Given the description of an element on the screen output the (x, y) to click on. 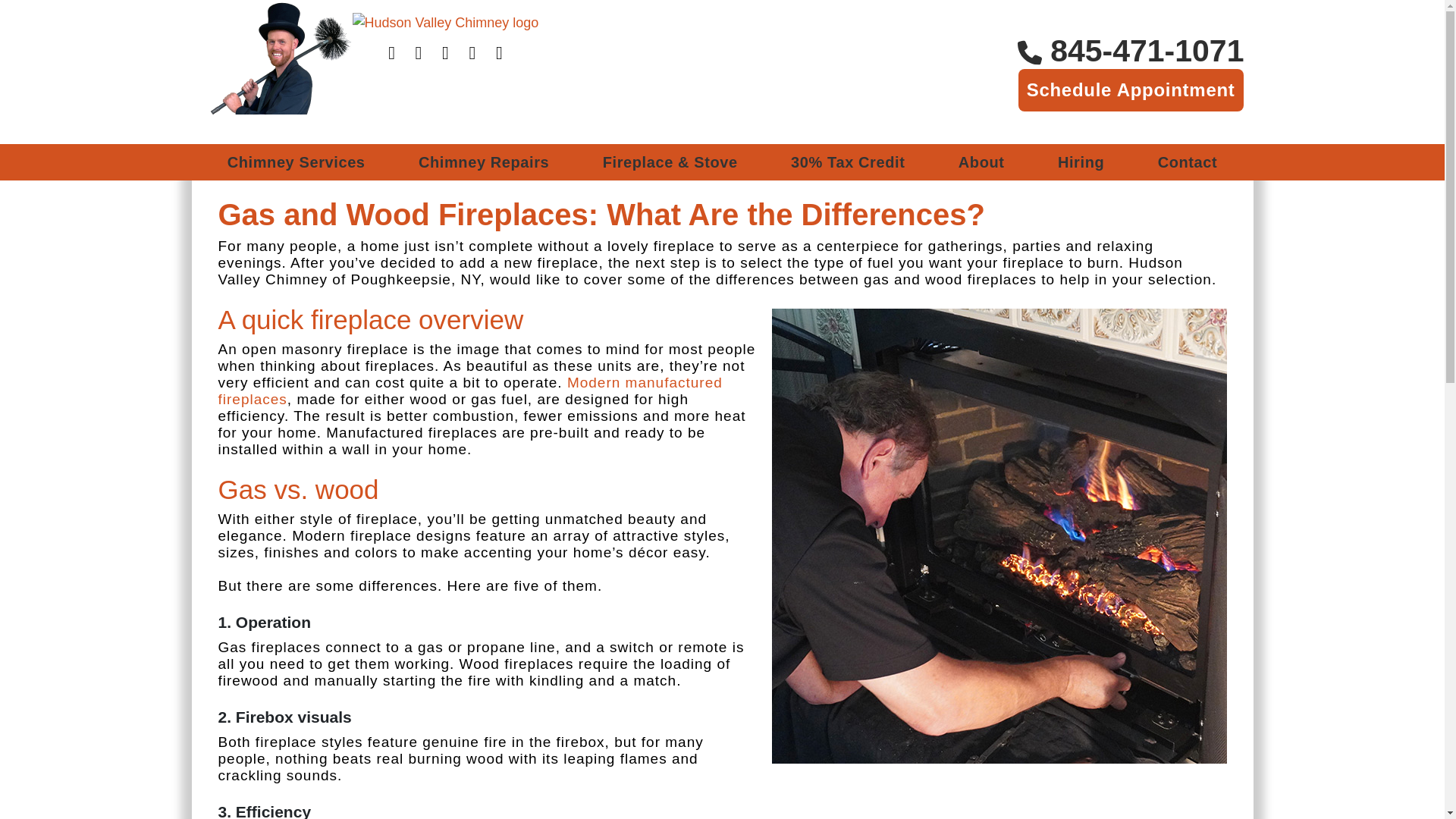
Chimney Services (295, 162)
Schedule Appointment (1130, 88)
Chimney Repairs (483, 162)
Hudson Valley Chimney (276, 72)
Hudson Valley Chimney (445, 22)
Hudson Valley Chimney (445, 23)
845-471-1071 (1130, 50)
